Given the description of an element on the screen output the (x, y) to click on. 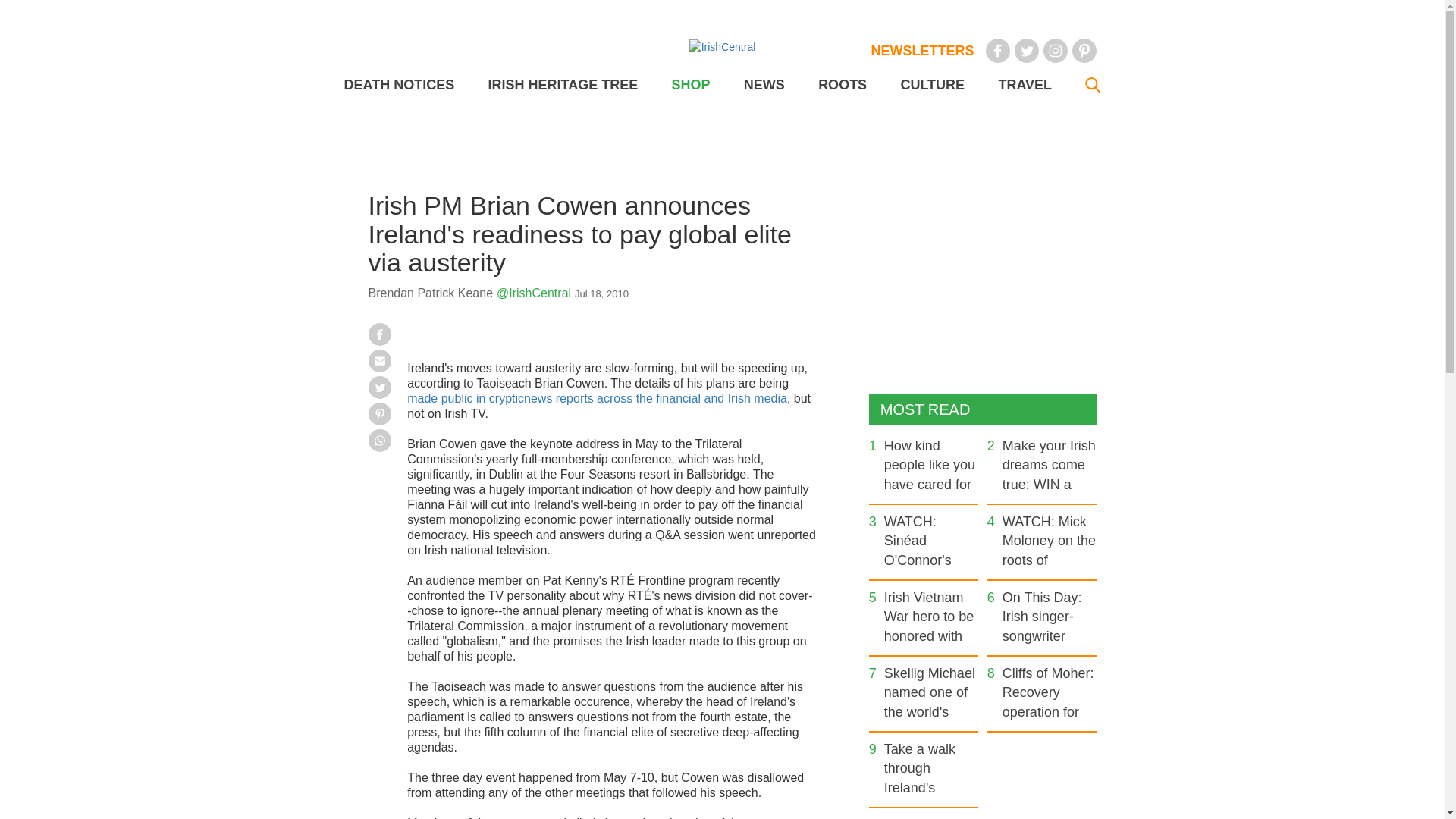
ROOTS (842, 84)
NEWSLETTERS (922, 50)
CULTURE (931, 84)
IRISH HERITAGE TREE (562, 84)
DEATH NOTICES (398, 84)
SHOP (690, 84)
TRAVEL (1024, 84)
NEWS (764, 84)
